Given the description of an element on the screen output the (x, y) to click on. 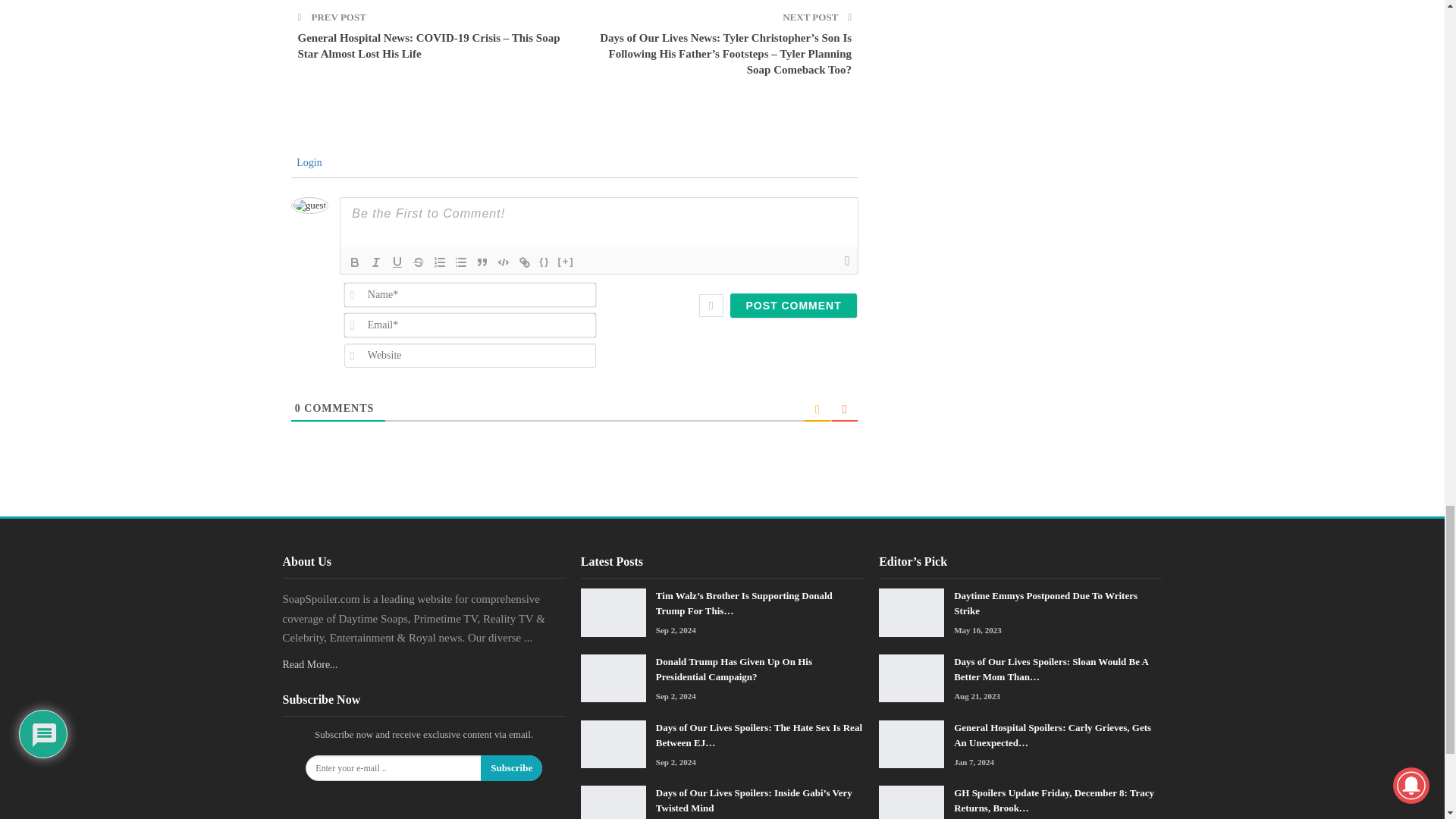
Bold (354, 262)
Link (524, 262)
Ordered List (439, 262)
Strike (418, 262)
Post Comment (793, 305)
Blockquote (482, 262)
Italic (376, 262)
Code Block (503, 262)
Unordered List (460, 262)
Underline (397, 262)
